Given the description of an element on the screen output the (x, y) to click on. 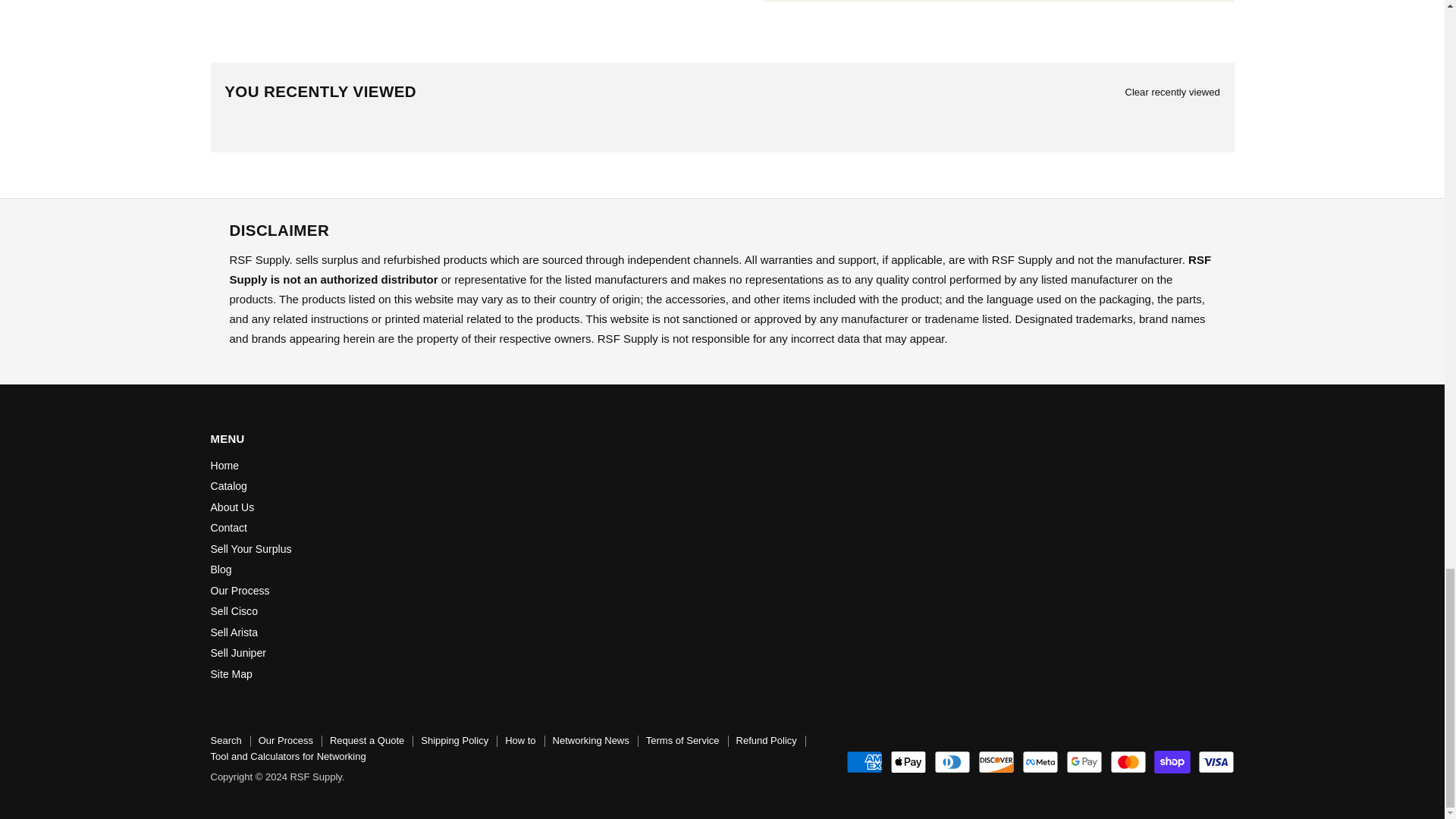
Diners Club (952, 762)
Visa (1216, 762)
Mastercard (1128, 762)
Shop Pay (1172, 762)
American Express (863, 762)
Discover (996, 762)
Apple Pay (907, 762)
Meta Pay (1040, 762)
Google Pay (1083, 762)
